Given the description of an element on the screen output the (x, y) to click on. 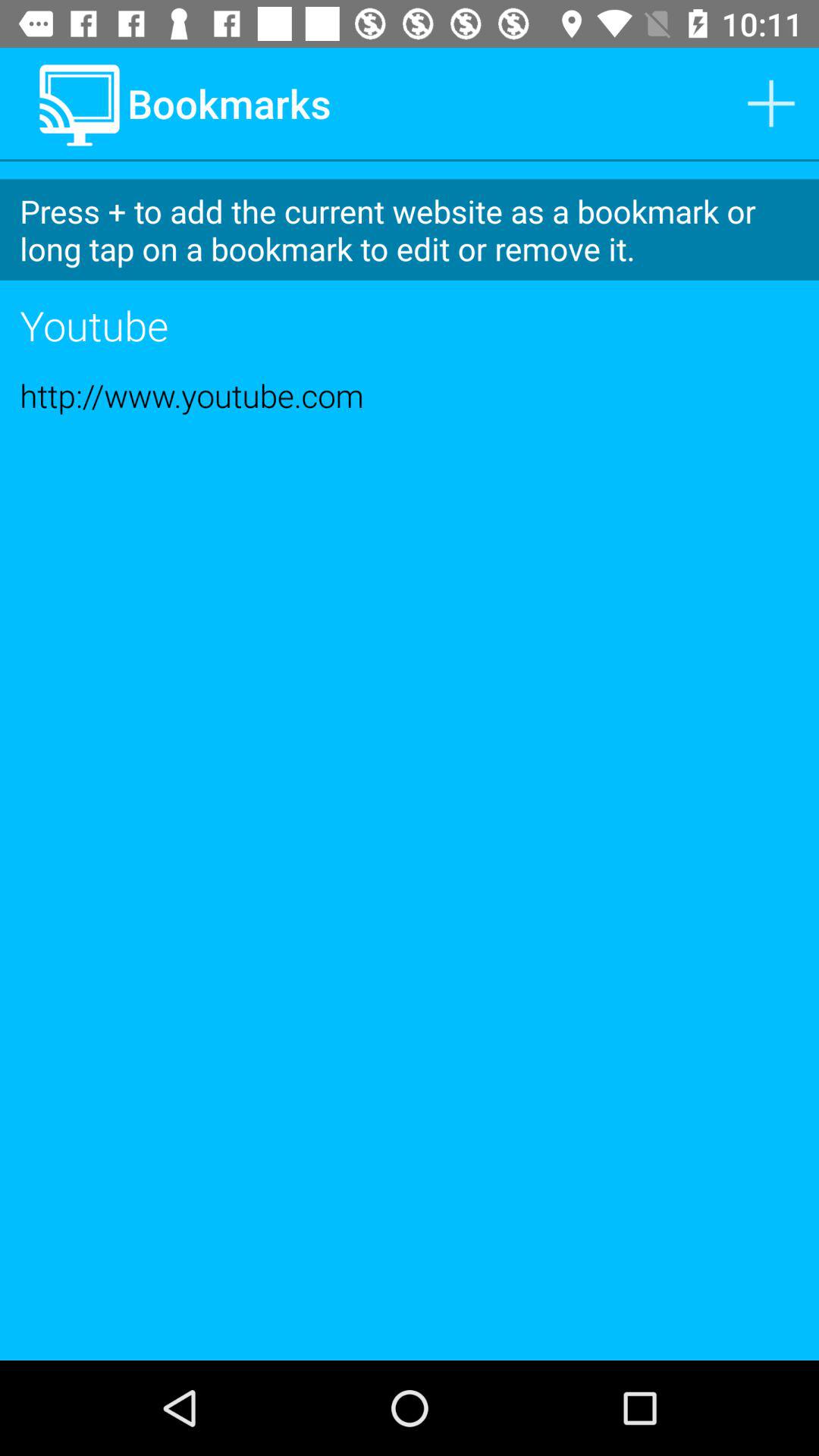
turn off item below youtube item (409, 395)
